Given the description of an element on the screen output the (x, y) to click on. 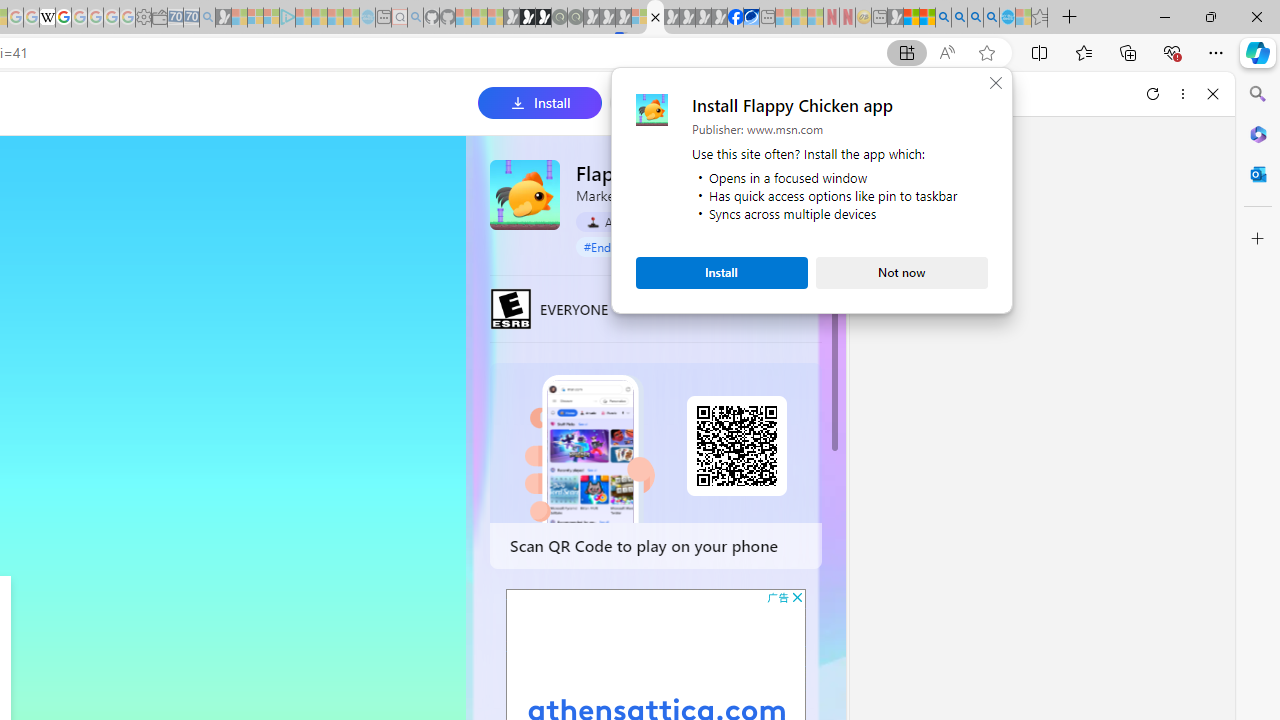
Not now (902, 272)
AutomationID: cbb (797, 596)
Settings - Sleeping (143, 17)
Nordace | Facebook (735, 17)
